Given the description of an element on the screen output the (x, y) to click on. 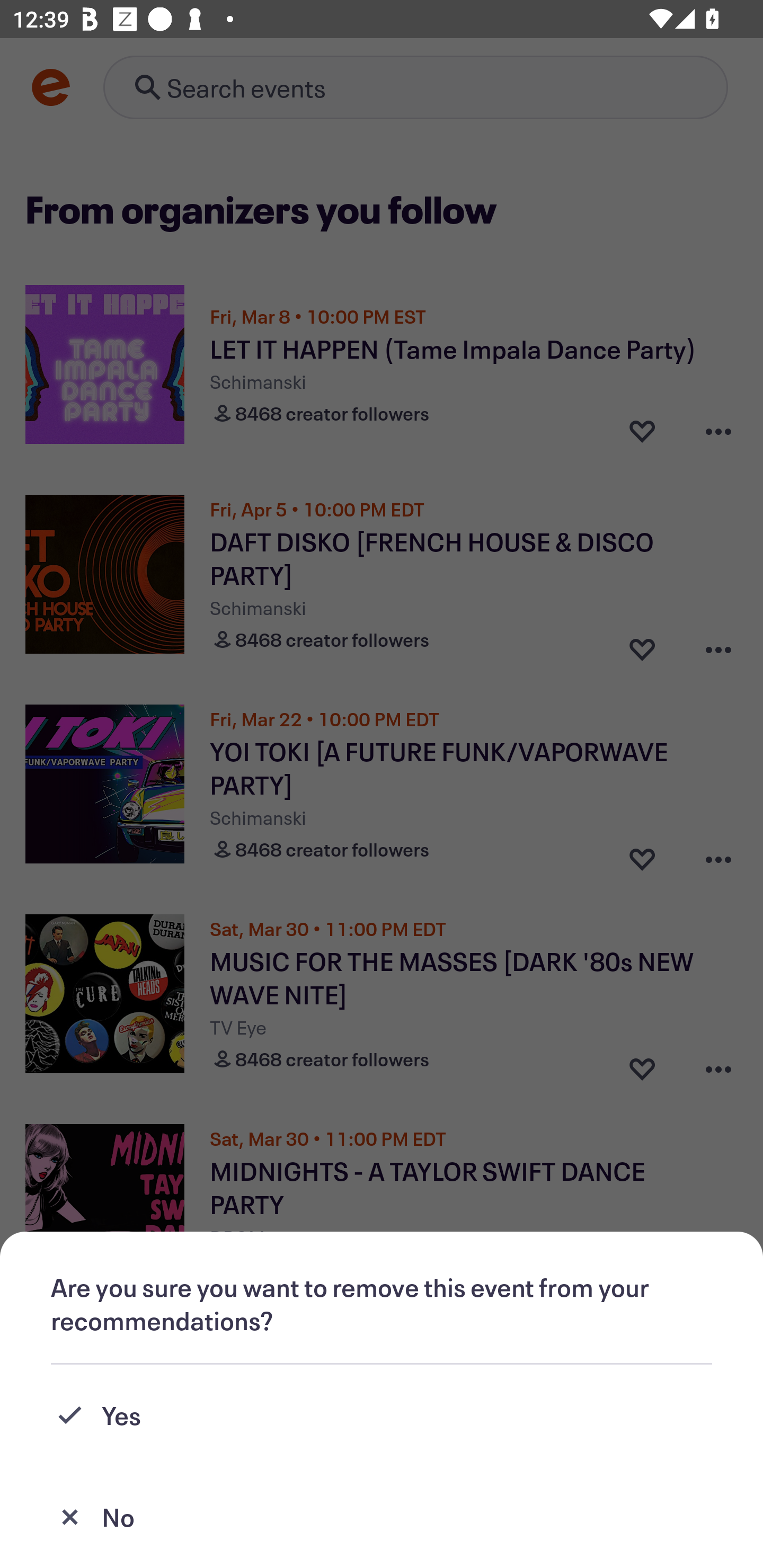
Yes (381, 1415)
No (381, 1517)
